Given the description of an element on the screen output the (x, y) to click on. 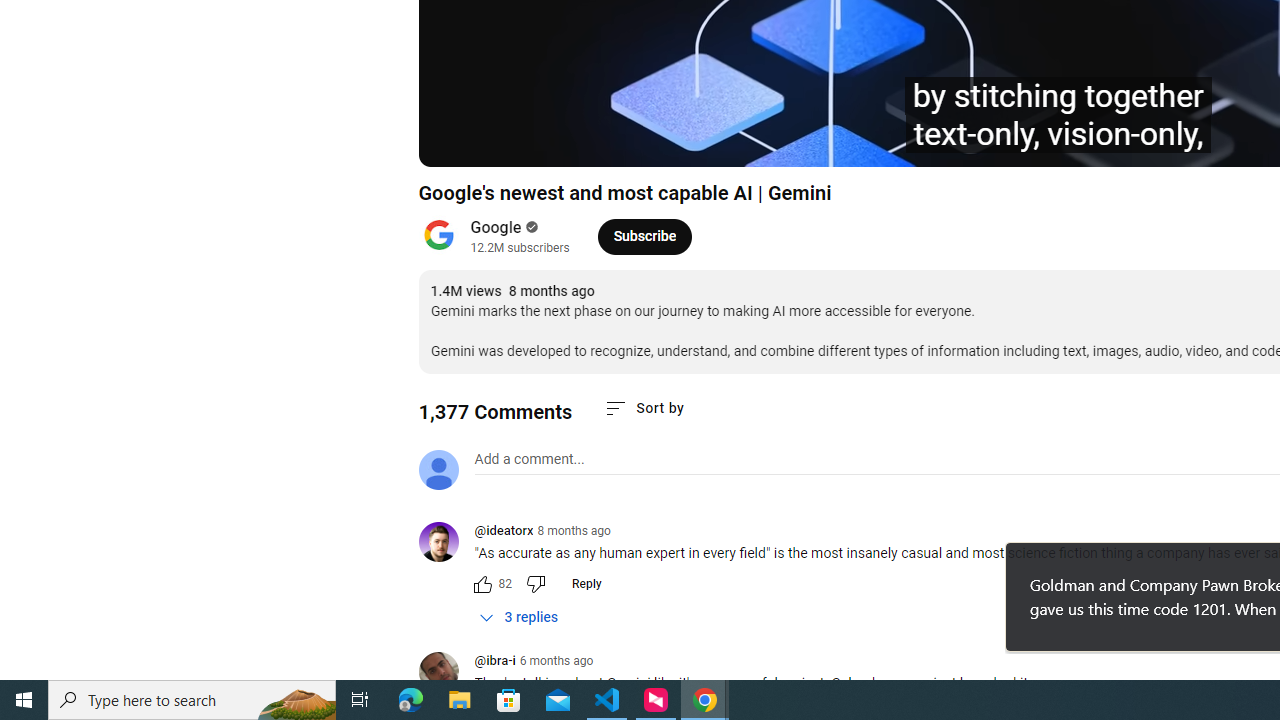
Play (k) (453, 142)
Like this comment along with 82 other people (482, 583)
Sort comments (644, 408)
@ideatorx (503, 532)
Dislike this comment (534, 583)
@ideatorx (446, 543)
@ibra-i (494, 661)
Mute keyboard shortcut m (548, 142)
8 months ago (573, 531)
Default profile photo (438, 470)
6 months ago (555, 661)
Reply (586, 583)
Verified (530, 227)
